Given the description of an element on the screen output the (x, y) to click on. 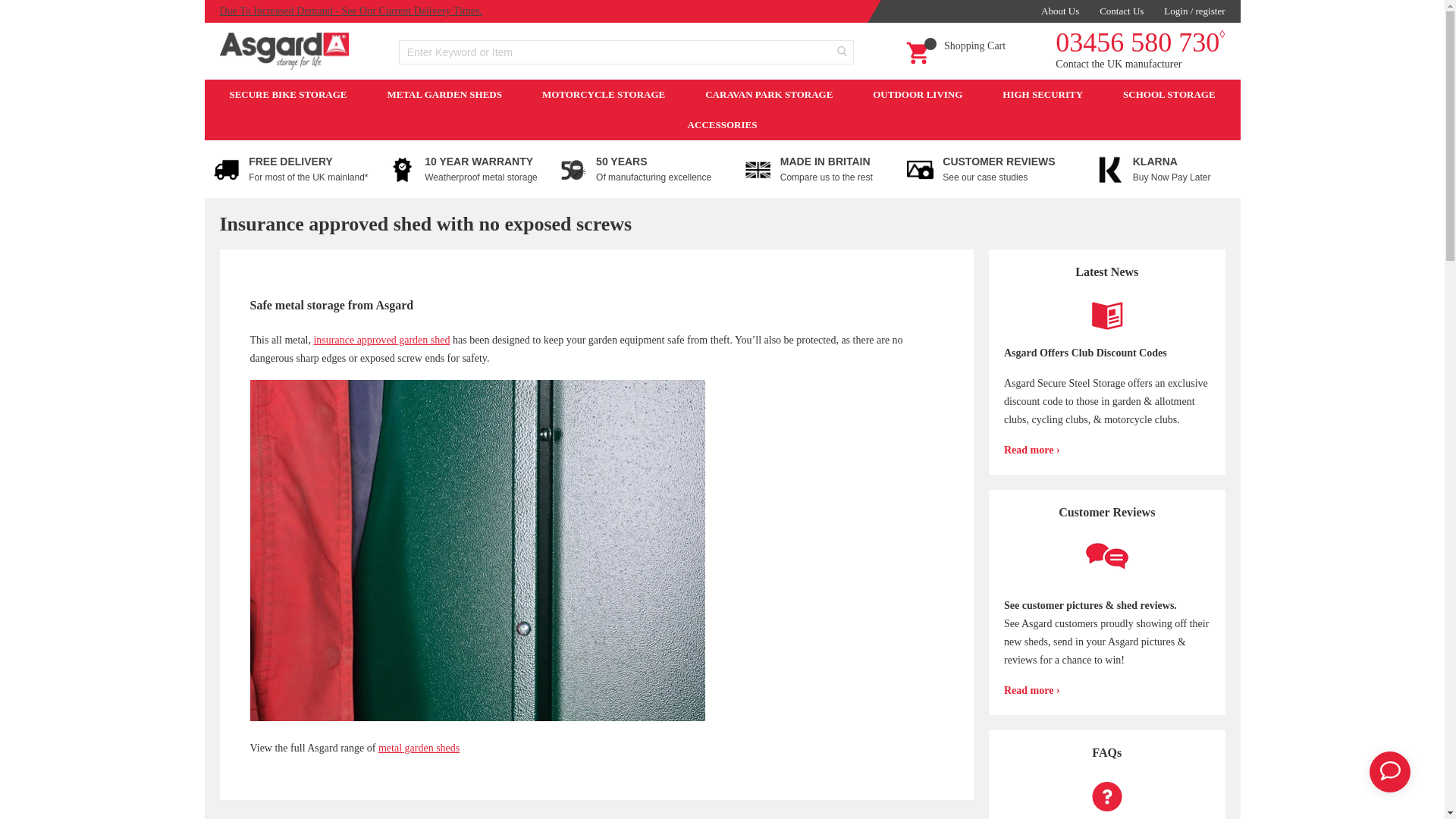
Shopping Cart (955, 50)
Contact Us (1120, 10)
SECURE BIKE STORAGE (287, 94)
Due To Increased Demand - See Our Current Delivery Times. (350, 10)
About Us (1059, 10)
METAL GARDEN SHEDS (443, 94)
